Given the description of an element on the screen output the (x, y) to click on. 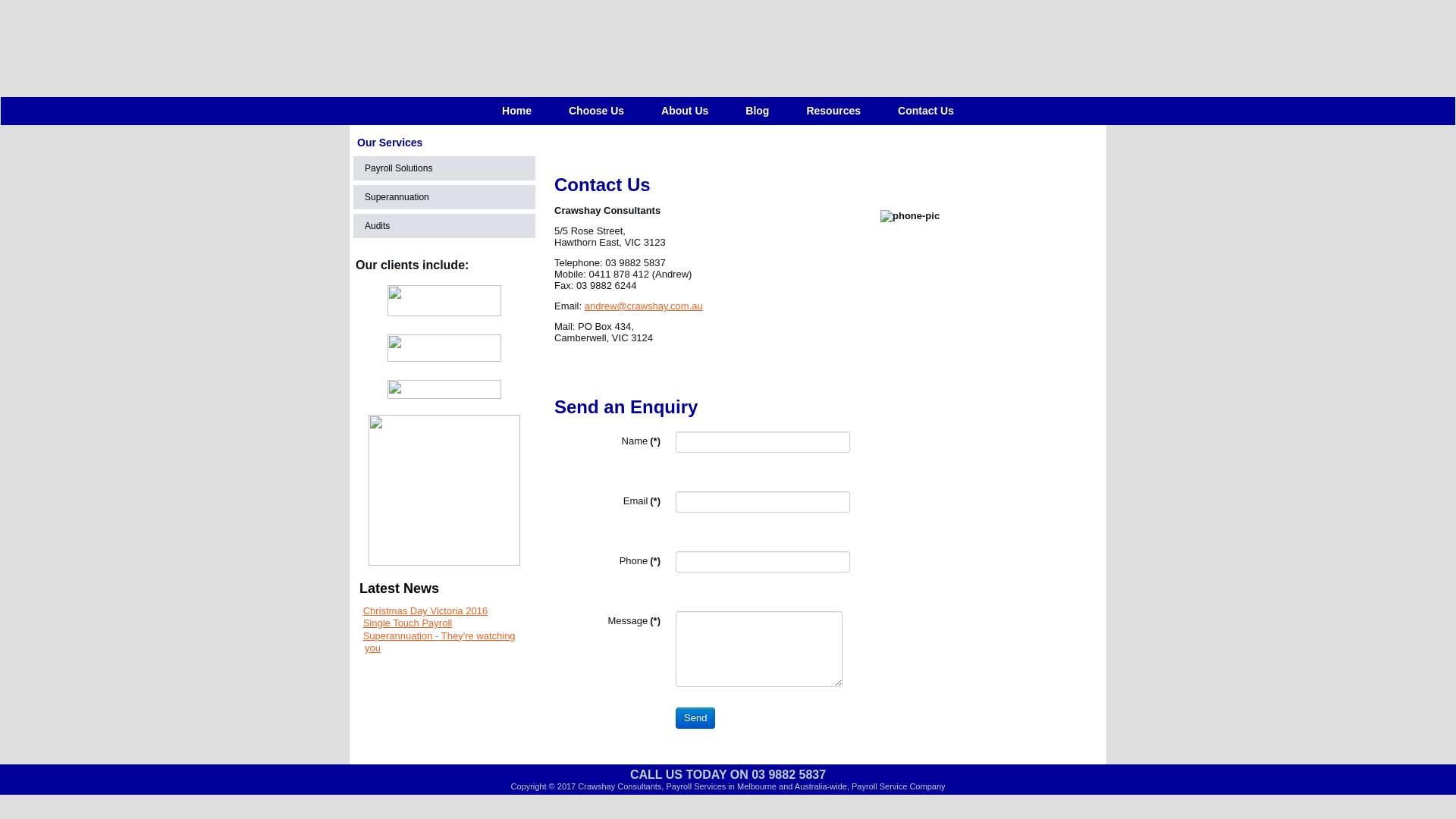
Choose Us Element type: text (596, 111)
Send Element type: text (695, 717)
Blog Element type: text (757, 111)
Resources Element type: text (832, 111)
Contact Us Element type: text (925, 111)
Christmas Day Victoria 2016 Element type: text (425, 610)
Payroll Solutions Element type: text (444, 168)
Superannuation Element type: text (444, 197)
About Us Element type: text (684, 111)
Audits Element type: text (444, 225)
andrew@crawshay.com.au Element type: text (643, 305)
Superannuation - They're watching you Element type: text (439, 640)
Home Element type: text (516, 111)
Single Touch Payroll Element type: text (407, 622)
